Given the description of an element on the screen output the (x, y) to click on. 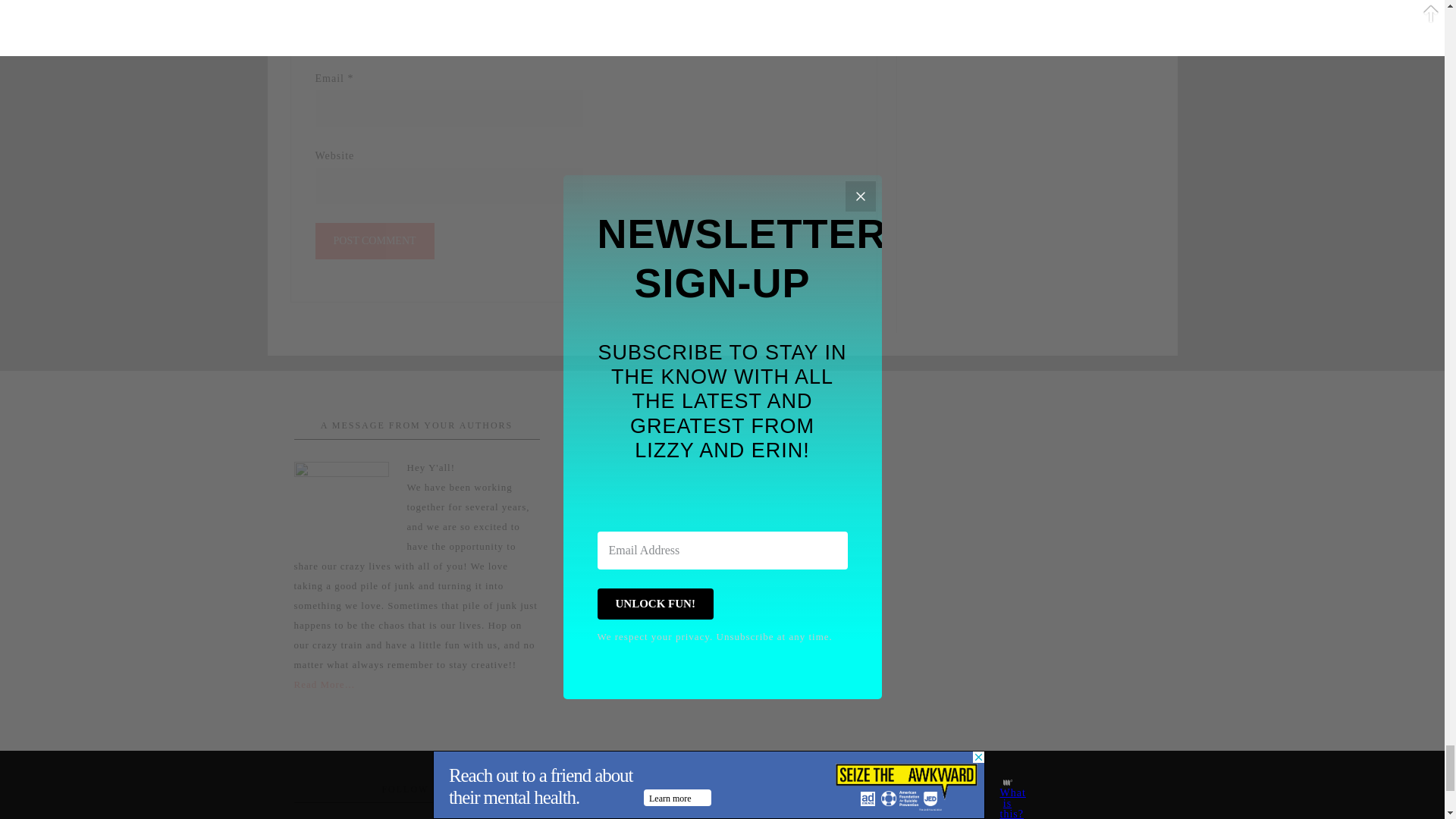
Post Comment (374, 240)
Post Comment (374, 240)
